Given the description of an element on the screen output the (x, y) to click on. 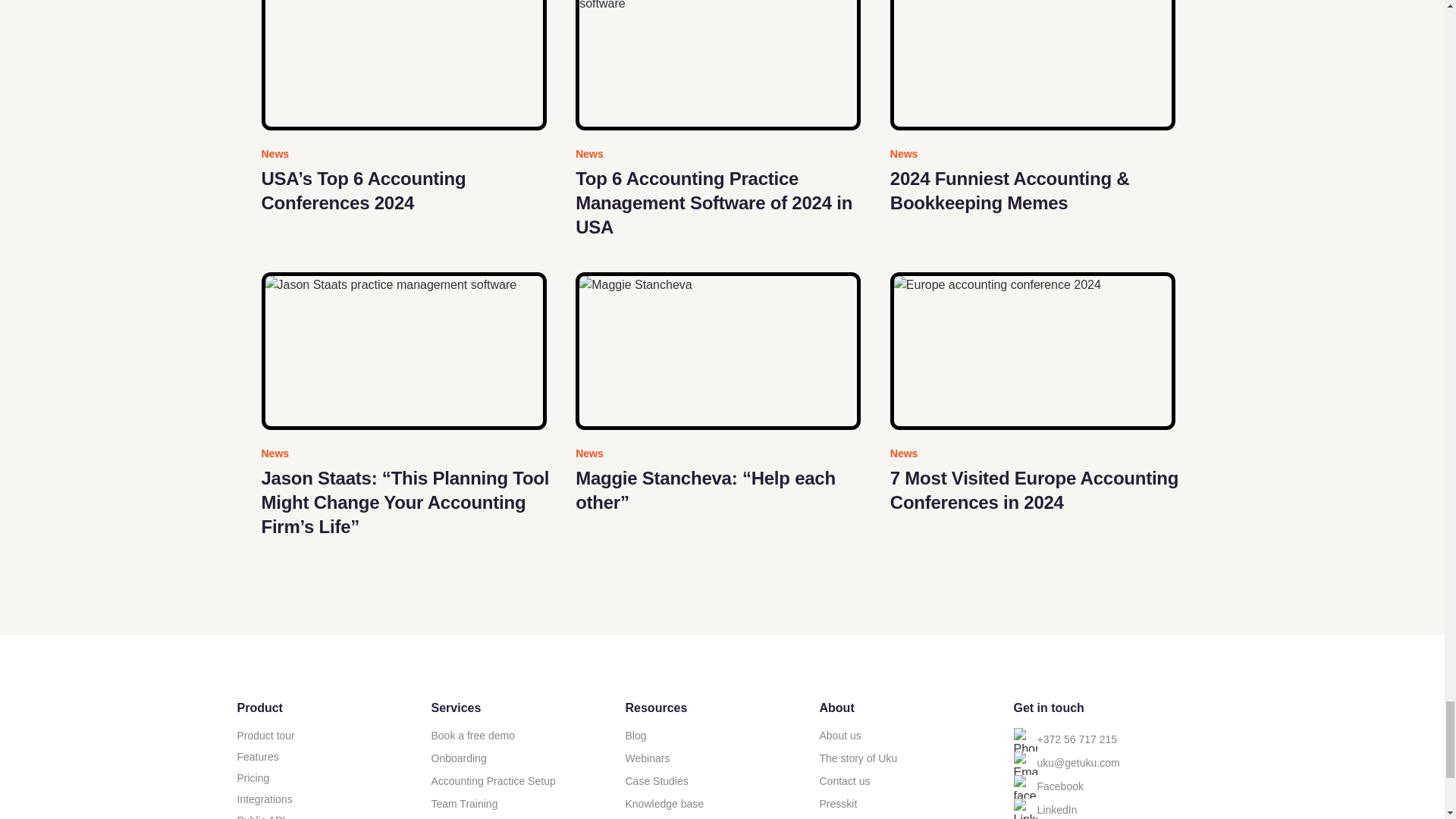
Europe conferences 2024 (1031, 350)
meme header (1031, 65)
Maggie Stancheva Story (717, 350)
USA best accounting practice management software (717, 65)
